Given the description of an element on the screen output the (x, y) to click on. 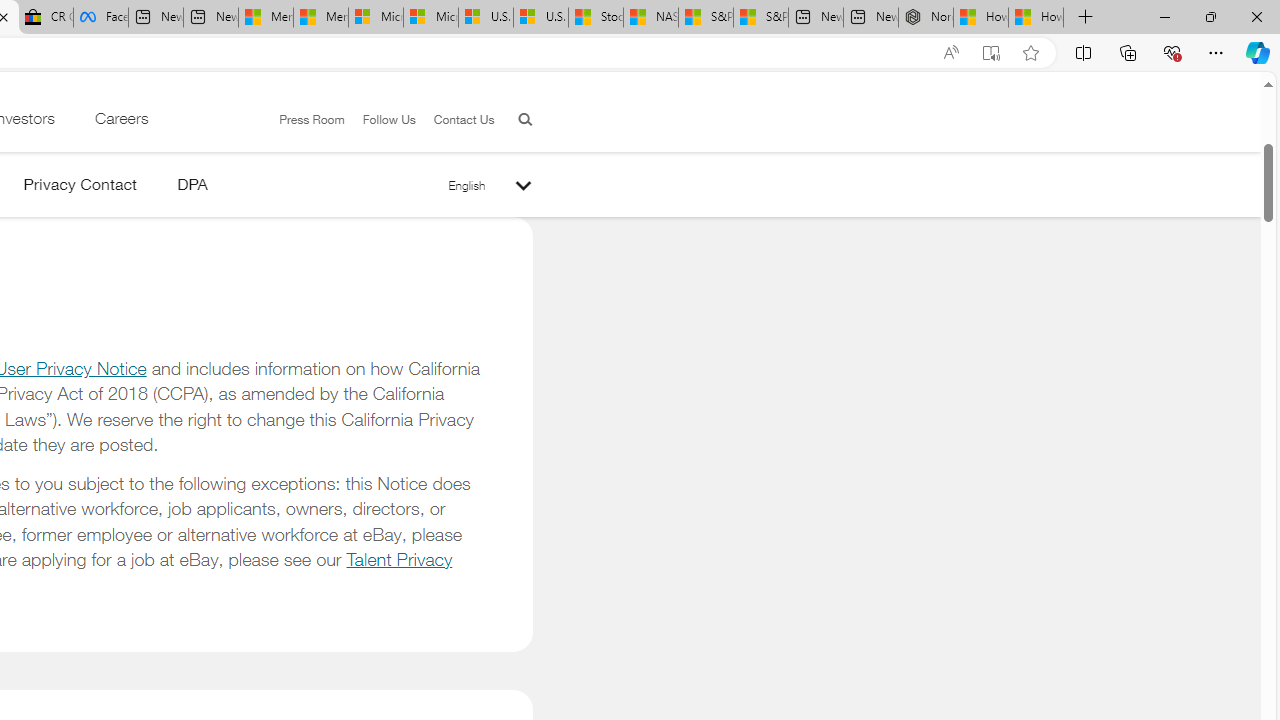
Enter Immersive Reader (F9) (991, 53)
DPA (191, 188)
